Given the description of an element on the screen output the (x, y) to click on. 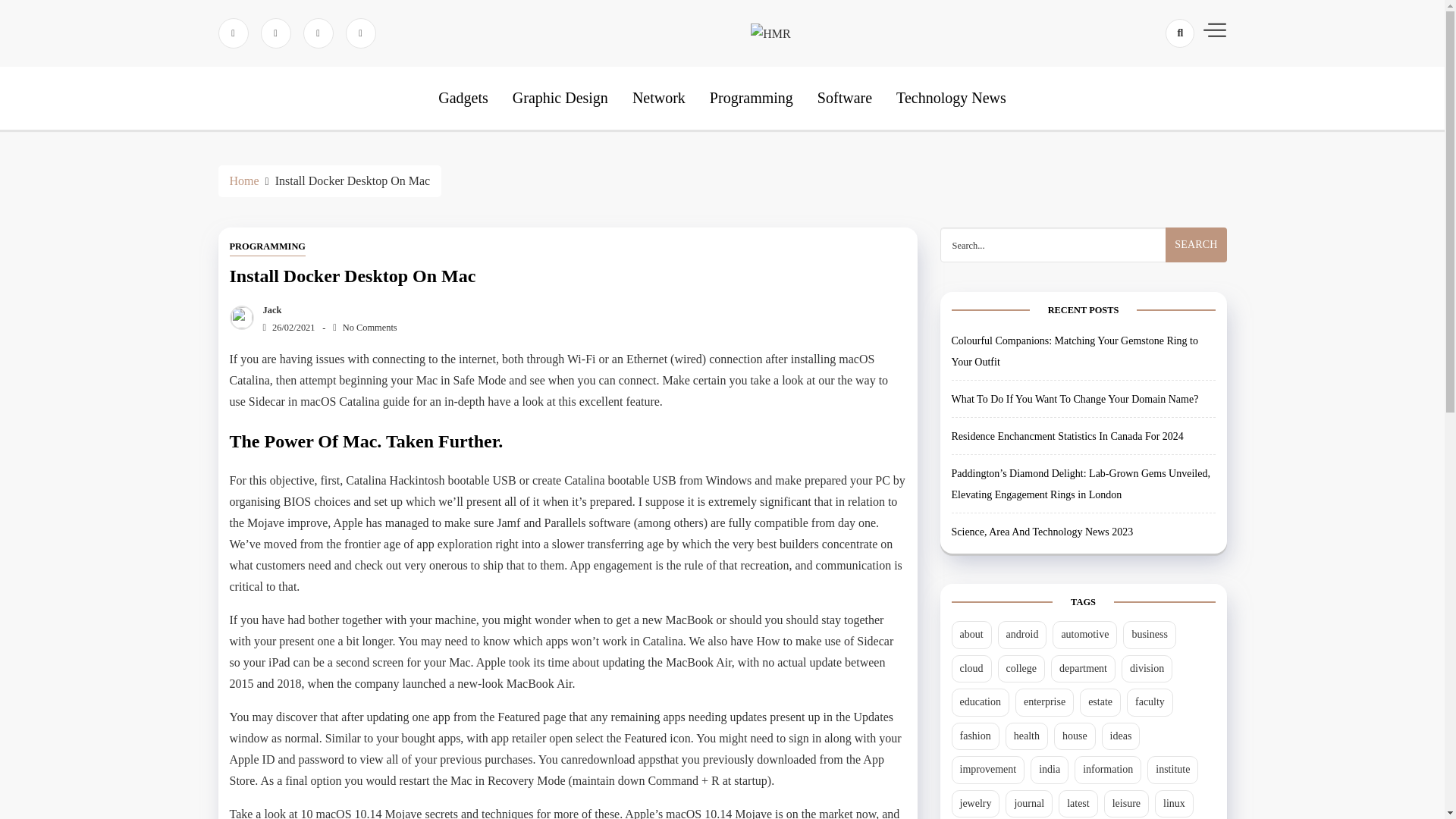
What To Do If You Want To Change Your Domain Name? (1074, 398)
Search (1195, 244)
Search (1195, 244)
Home (243, 180)
Jack (268, 309)
Graphic Design (560, 97)
HMR (802, 81)
Search (1195, 244)
Programming (751, 97)
Search (1152, 86)
